Given the description of an element on the screen output the (x, y) to click on. 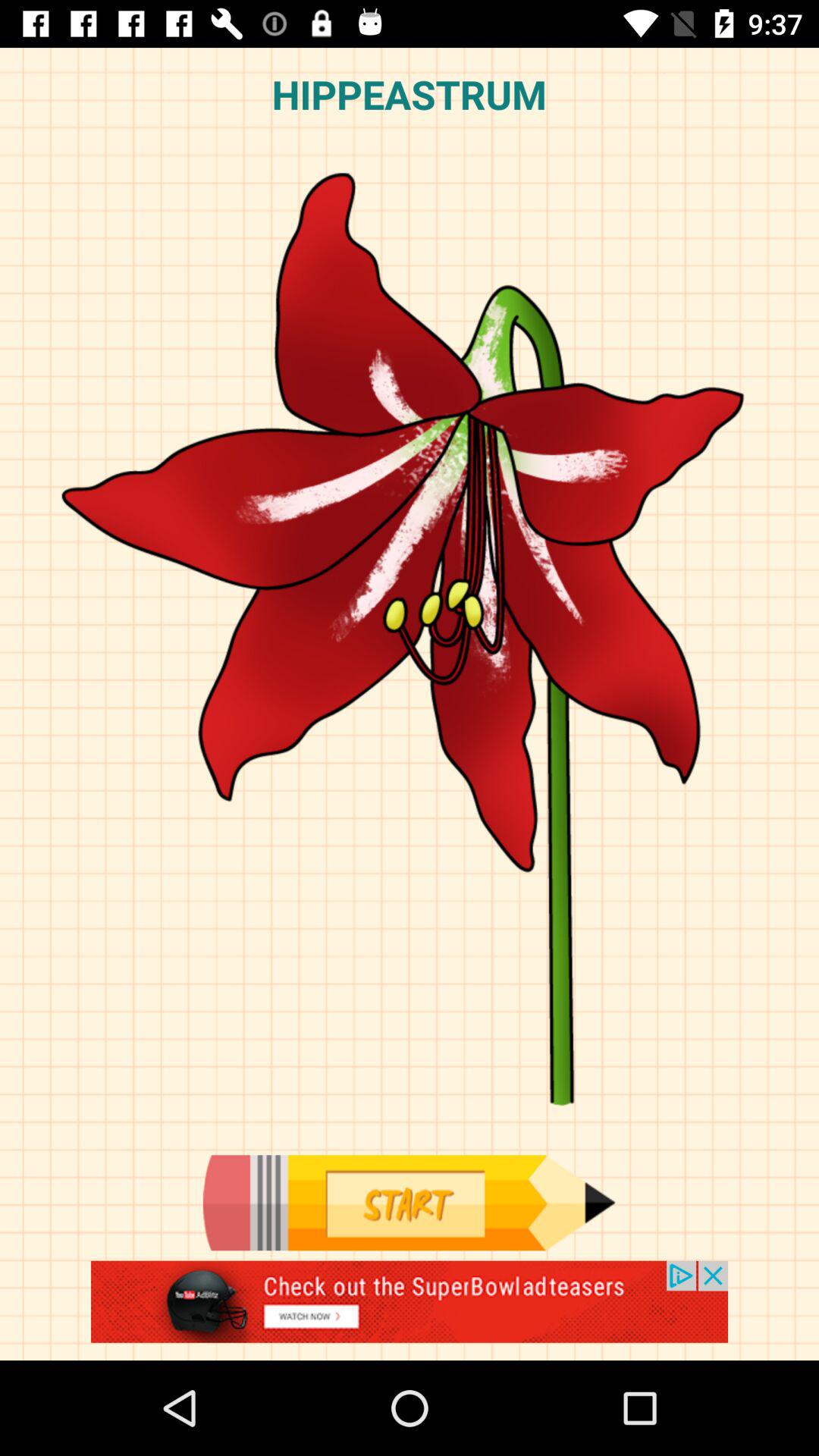
start (409, 1202)
